Given the description of an element on the screen output the (x, y) to click on. 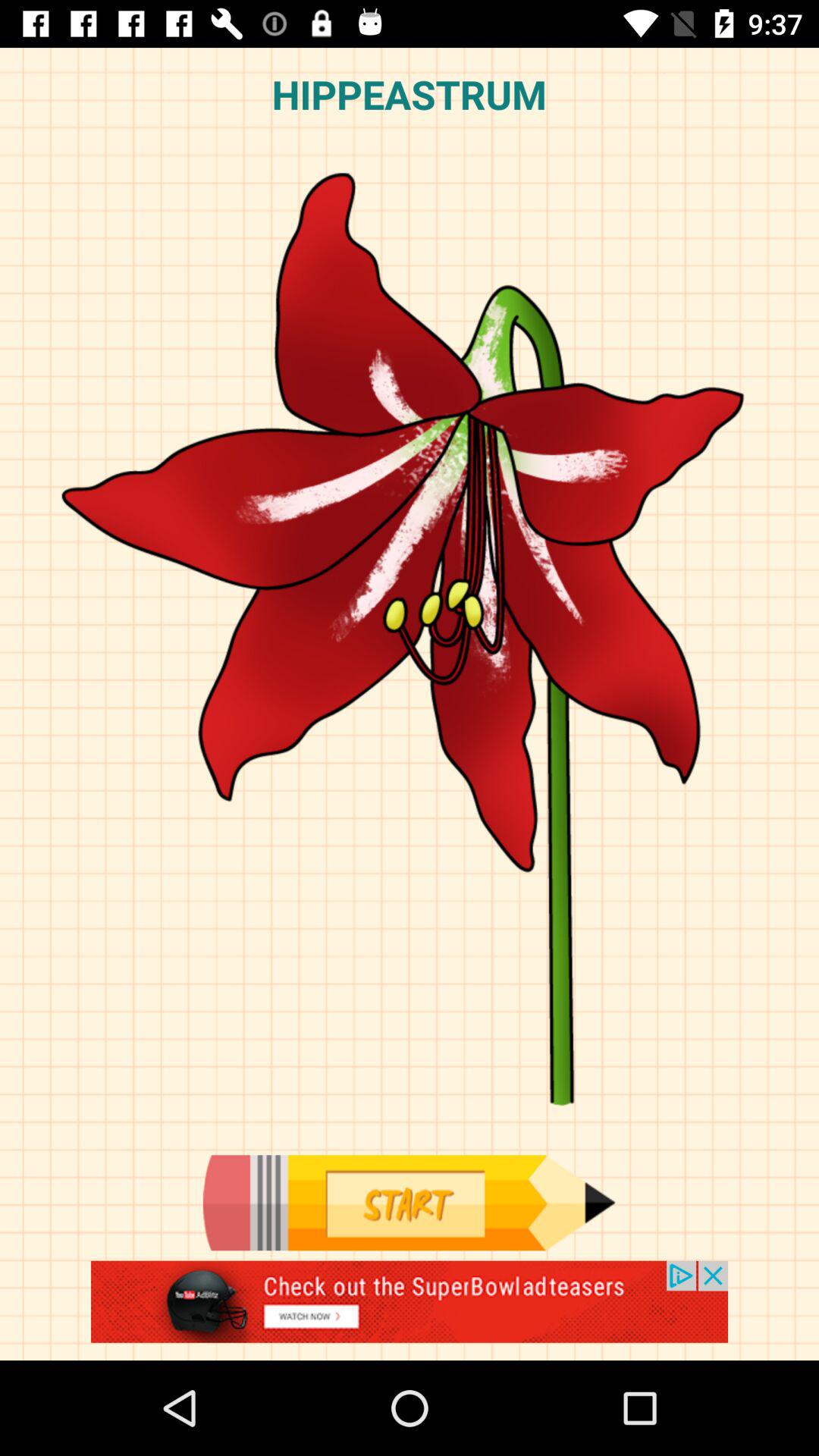
start (409, 1202)
